Given the description of an element on the screen output the (x, y) to click on. 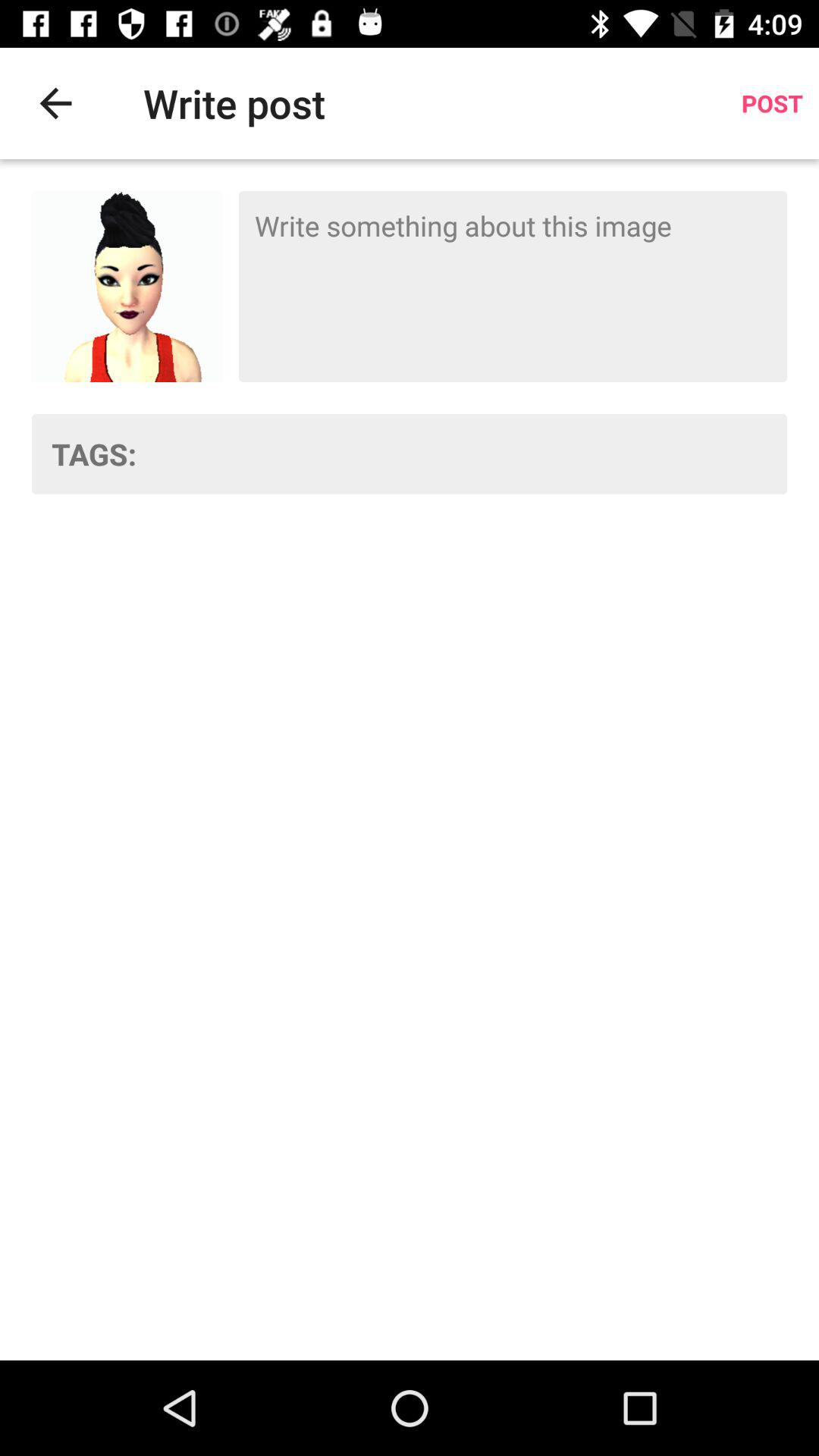
description box (512, 286)
